Given the description of an element on the screen output the (x, y) to click on. 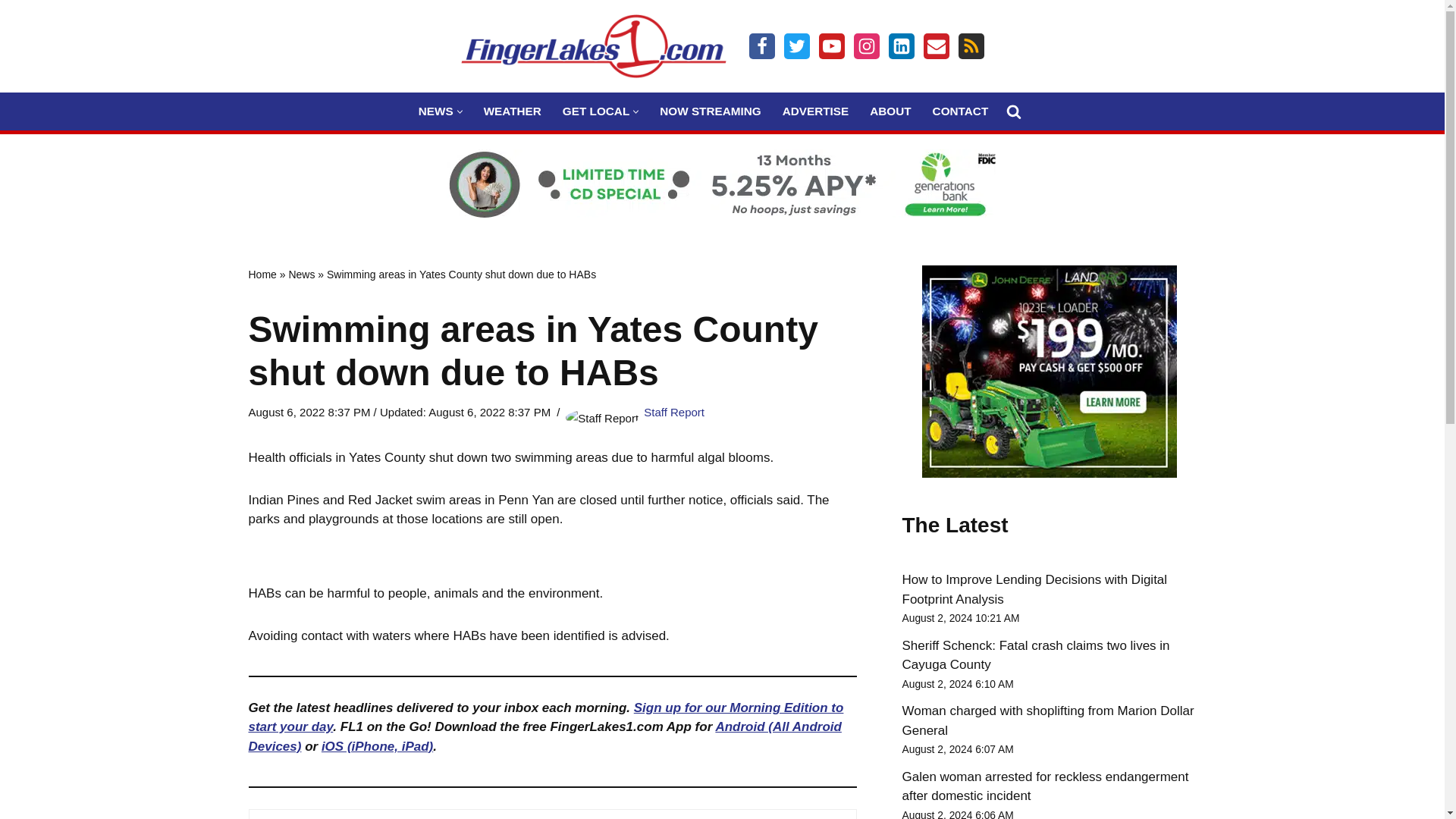
GET LOCAL (595, 111)
CONTACT (960, 111)
Facebook (761, 45)
Email Us (936, 45)
NOW STREAMING (709, 111)
WEATHER (512, 111)
LinkIn (901, 45)
ABOUT (890, 111)
Instagram (866, 45)
Youtube (831, 45)
